Given the description of an element on the screen output the (x, y) to click on. 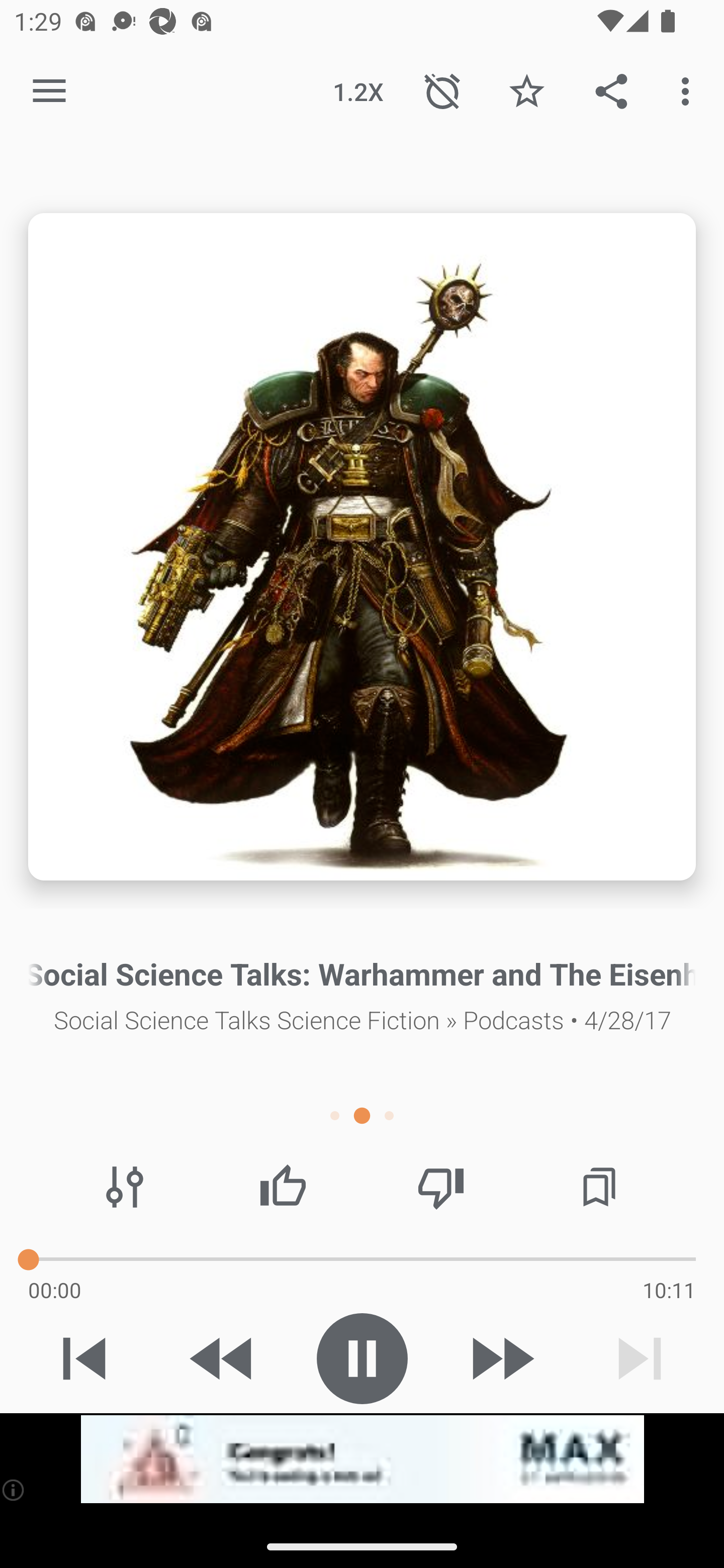
Open navigation sidebar (49, 91)
1.2X (357, 90)
Sleep Timer (442, 90)
Favorite (526, 90)
Share (611, 90)
More options (688, 90)
Episode description (361, 547)
Audio effects (124, 1186)
Thumbs up (283, 1186)
Thumbs down (440, 1186)
Chapters / Bookmarks (598, 1186)
10:11 (668, 1289)
Previous track (84, 1358)
Skip 15s backward (222, 1358)
Play / Pause (362, 1358)
Skip 30s forward (500, 1358)
Next track (639, 1358)
app-monetization (362, 1459)
(i) (14, 1489)
